Given the description of an element on the screen output the (x, y) to click on. 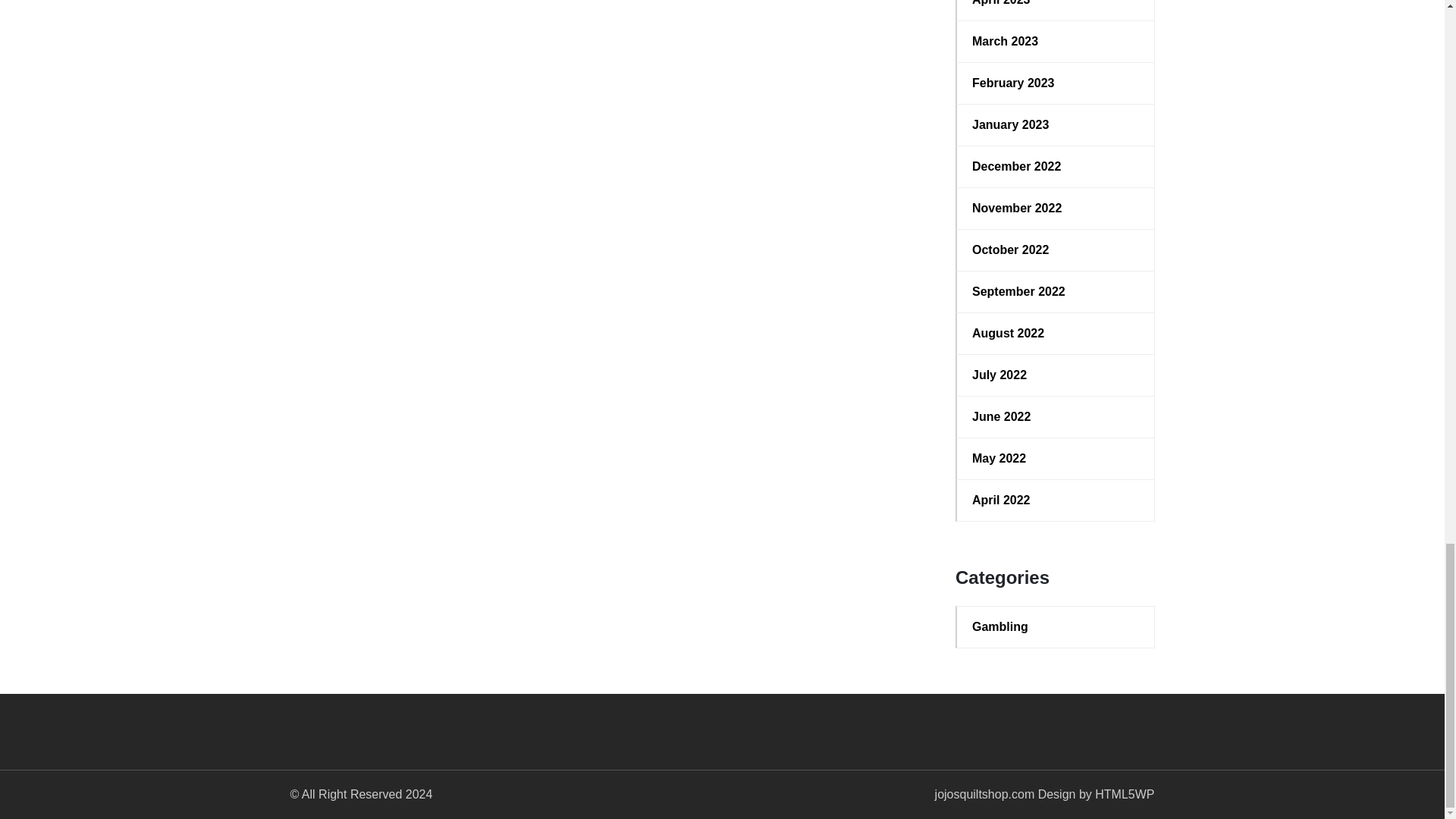
February 2023 (1055, 83)
January 2023 (1055, 125)
November 2022 (1055, 208)
March 2023 (1055, 41)
December 2022 (1055, 167)
September 2022 (1055, 291)
October 2022 (1055, 249)
April 2023 (1055, 4)
